Given the description of an element on the screen output the (x, y) to click on. 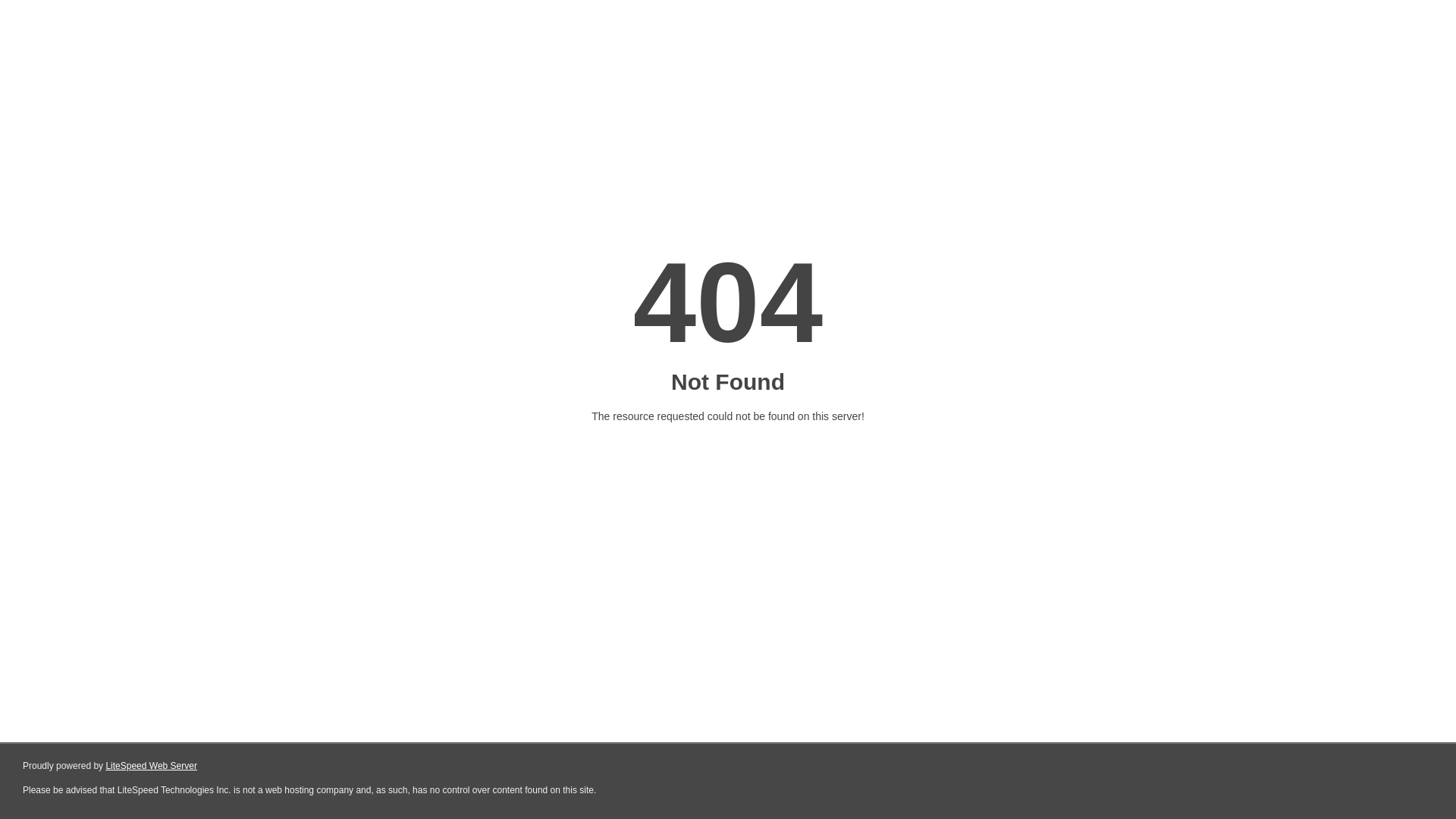
LiteSpeed Web Server Element type: text (151, 765)
